Given the description of an element on the screen output the (x, y) to click on. 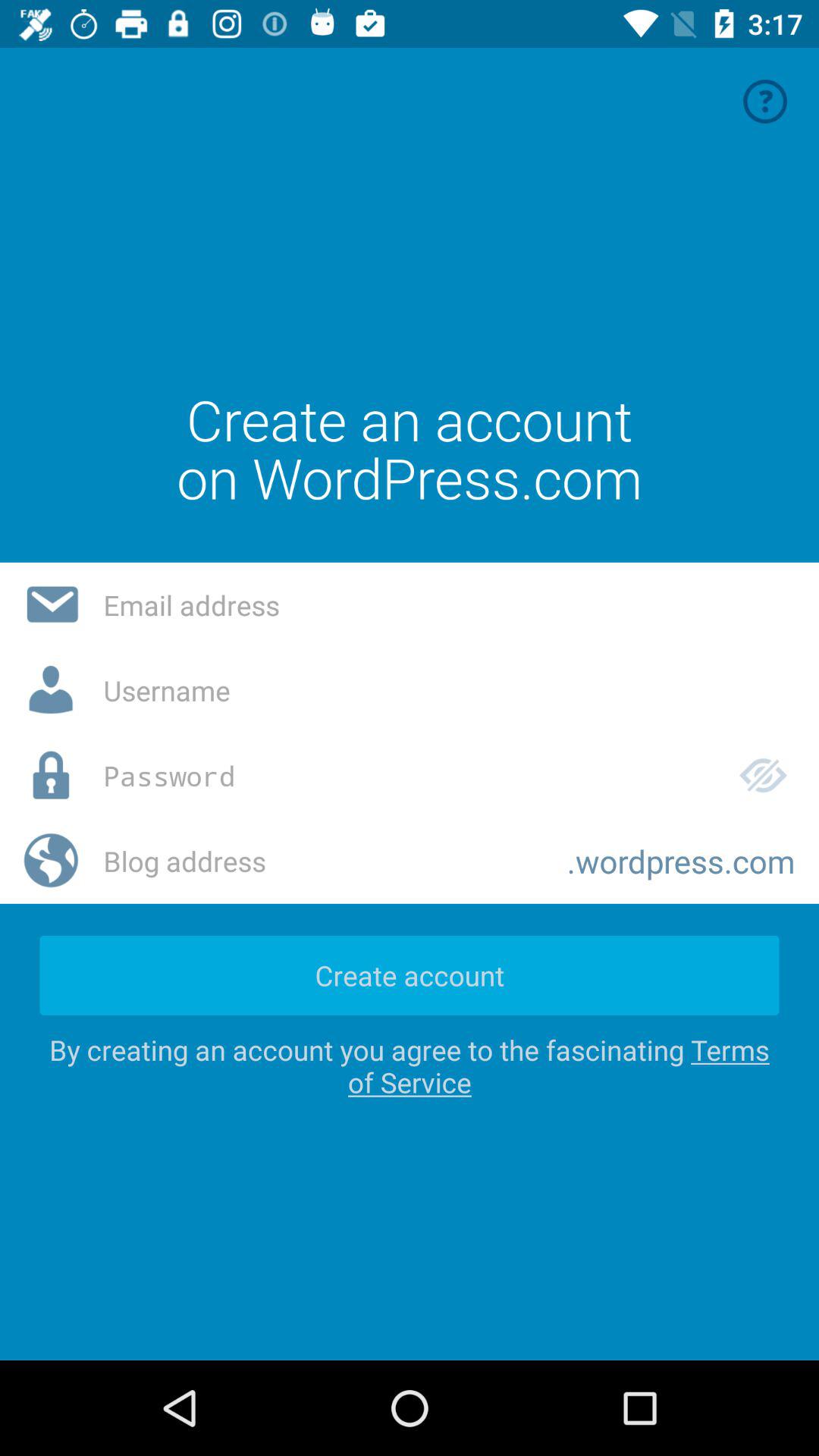
click item above create account (323, 860)
